Given the description of an element on the screen output the (x, y) to click on. 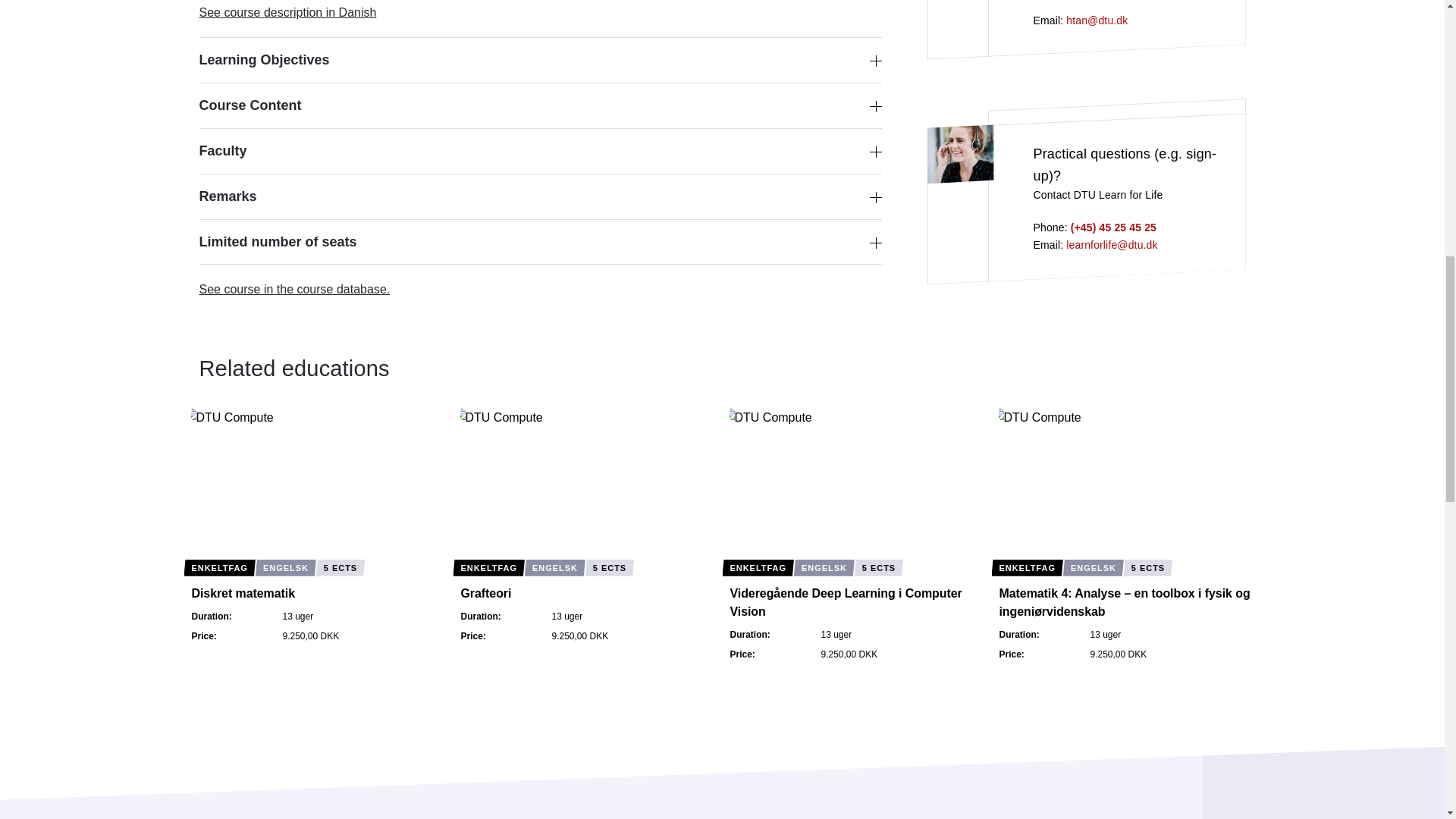
See course description in Danish (286, 11)
See course in the course database. (294, 288)
